Given the description of an element on the screen output the (x, y) to click on. 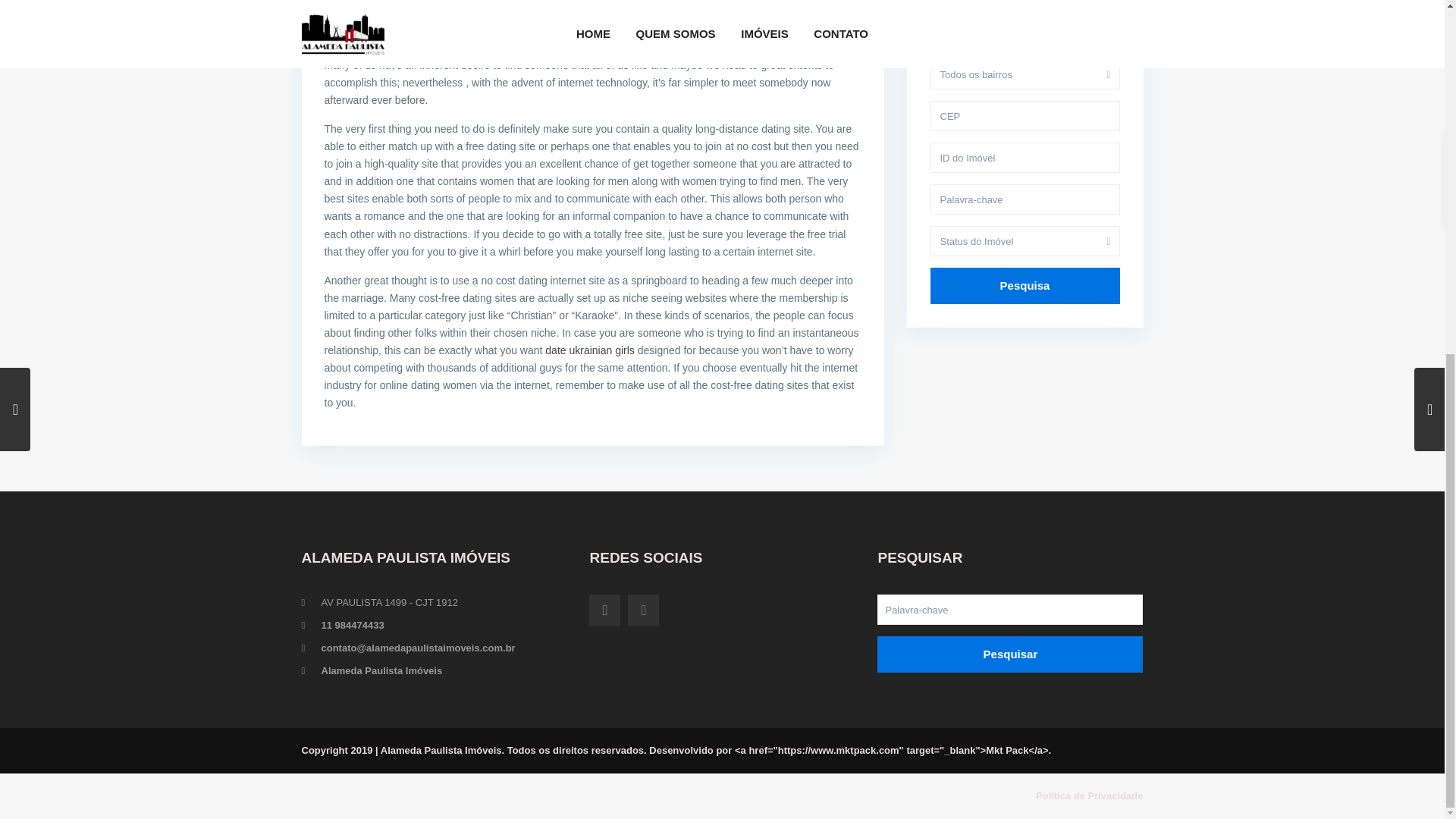
Pesquisar (1009, 654)
Pesquisa (1024, 285)
date ukrainian girls (589, 349)
11 984474433 (352, 624)
